Given the description of an element on the screen output the (x, y) to click on. 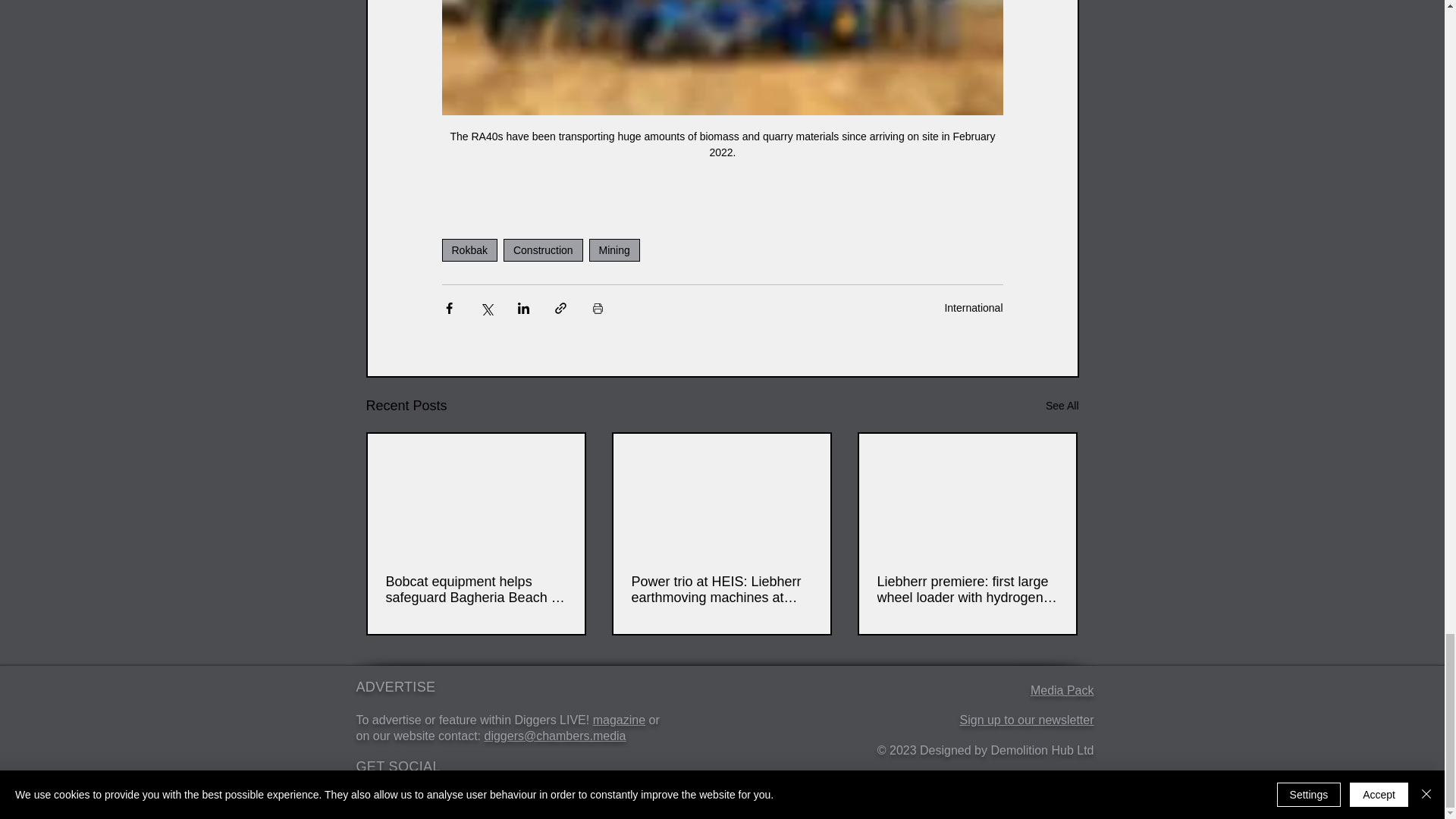
See All (1061, 405)
Rokbak (468, 250)
International (973, 307)
Construction (543, 250)
Power trio at HEIS: Liebherr earthmoving machines at work (720, 590)
Mining (614, 250)
Bobcat equipment helps safeguard Bagheria Beach in Sicily (475, 590)
